Given the description of an element on the screen output the (x, y) to click on. 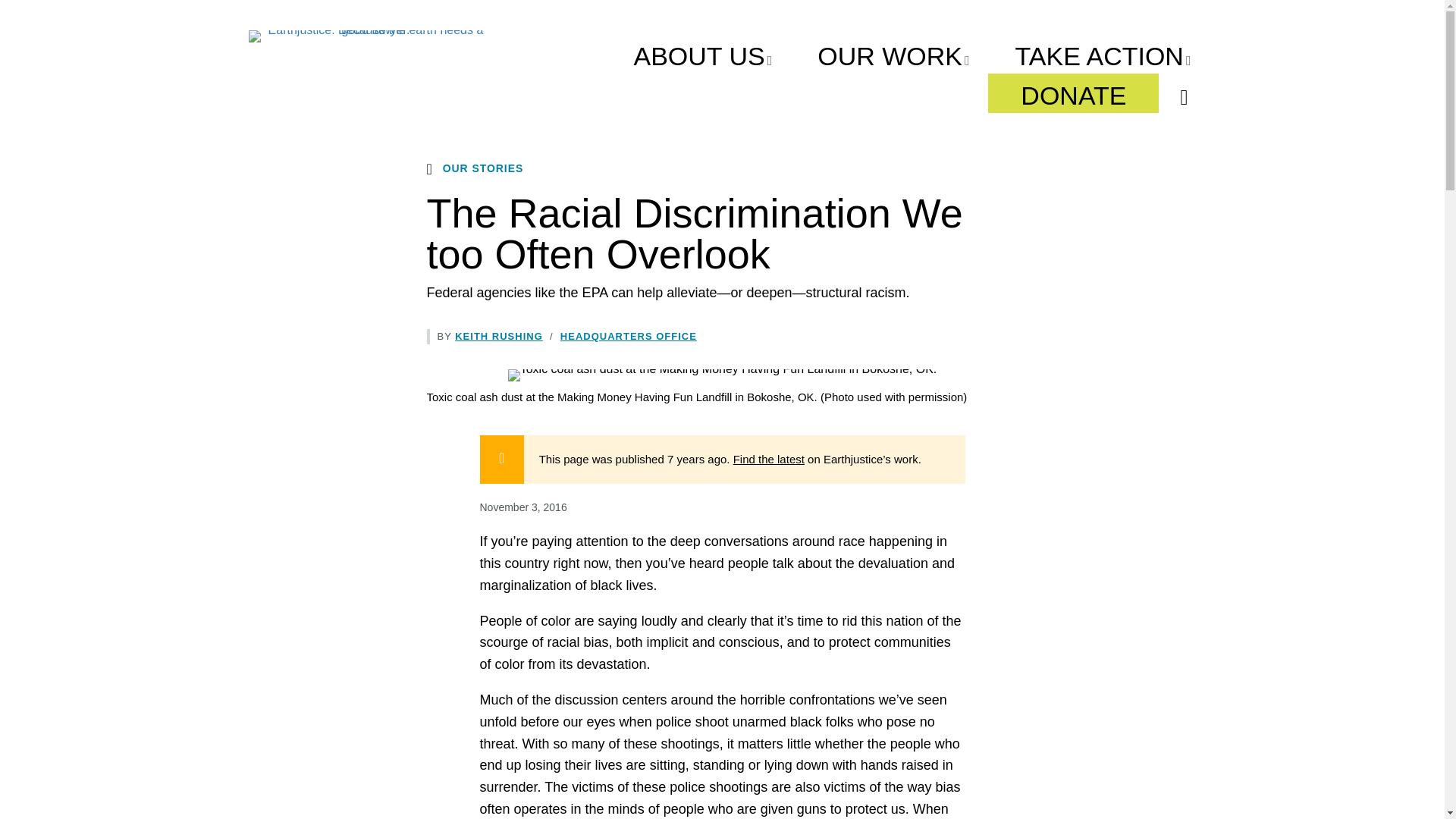
OUR WORK (892, 53)
Keith Rushing (498, 336)
Headquarters Office (628, 336)
ABOUT US (702, 53)
TAKE ACTION (1103, 53)
DONATE (1073, 93)
